Given the description of an element on the screen output the (x, y) to click on. 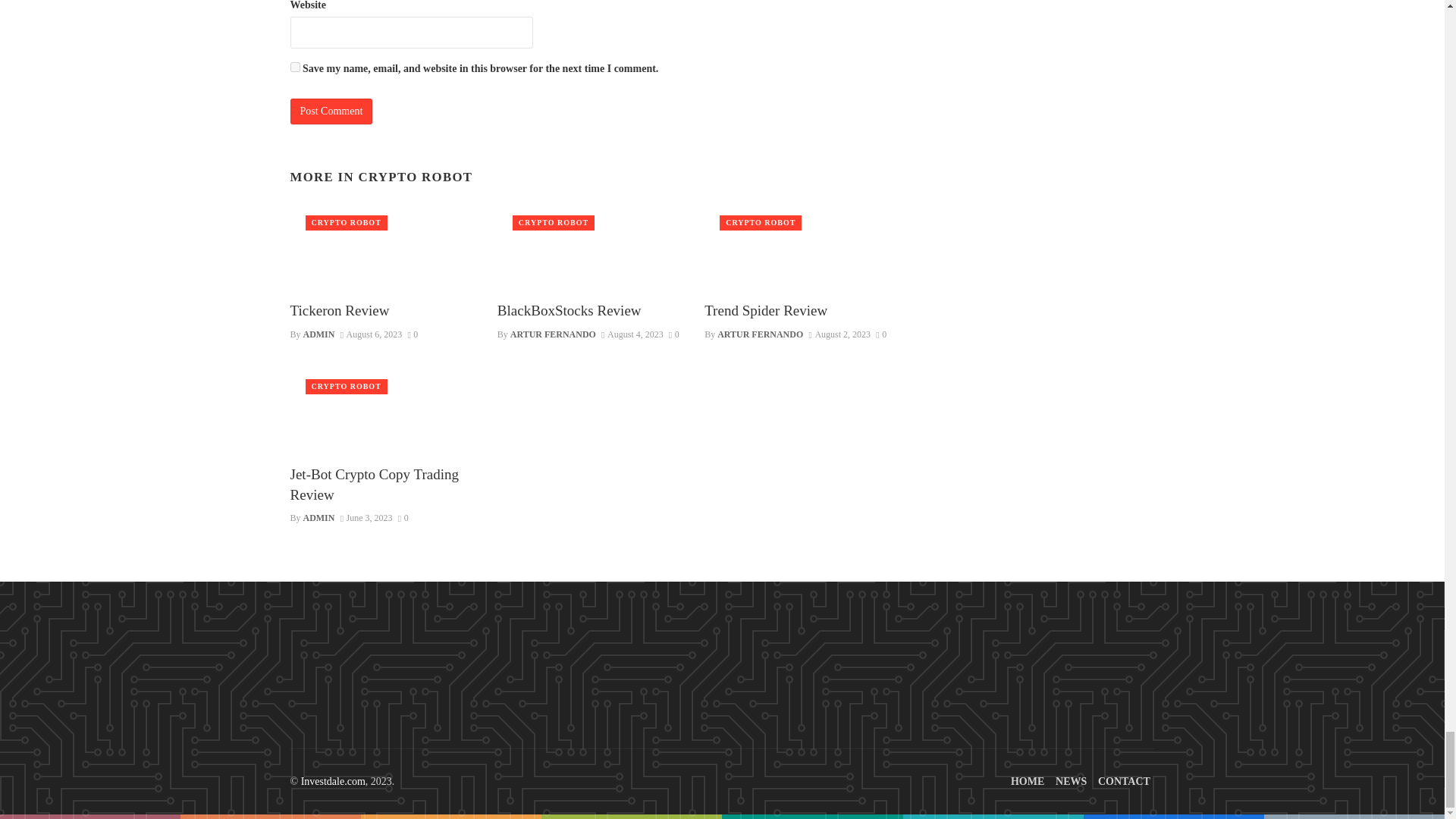
yes (294, 67)
Post Comment (330, 111)
